Given the description of an element on the screen output the (x, y) to click on. 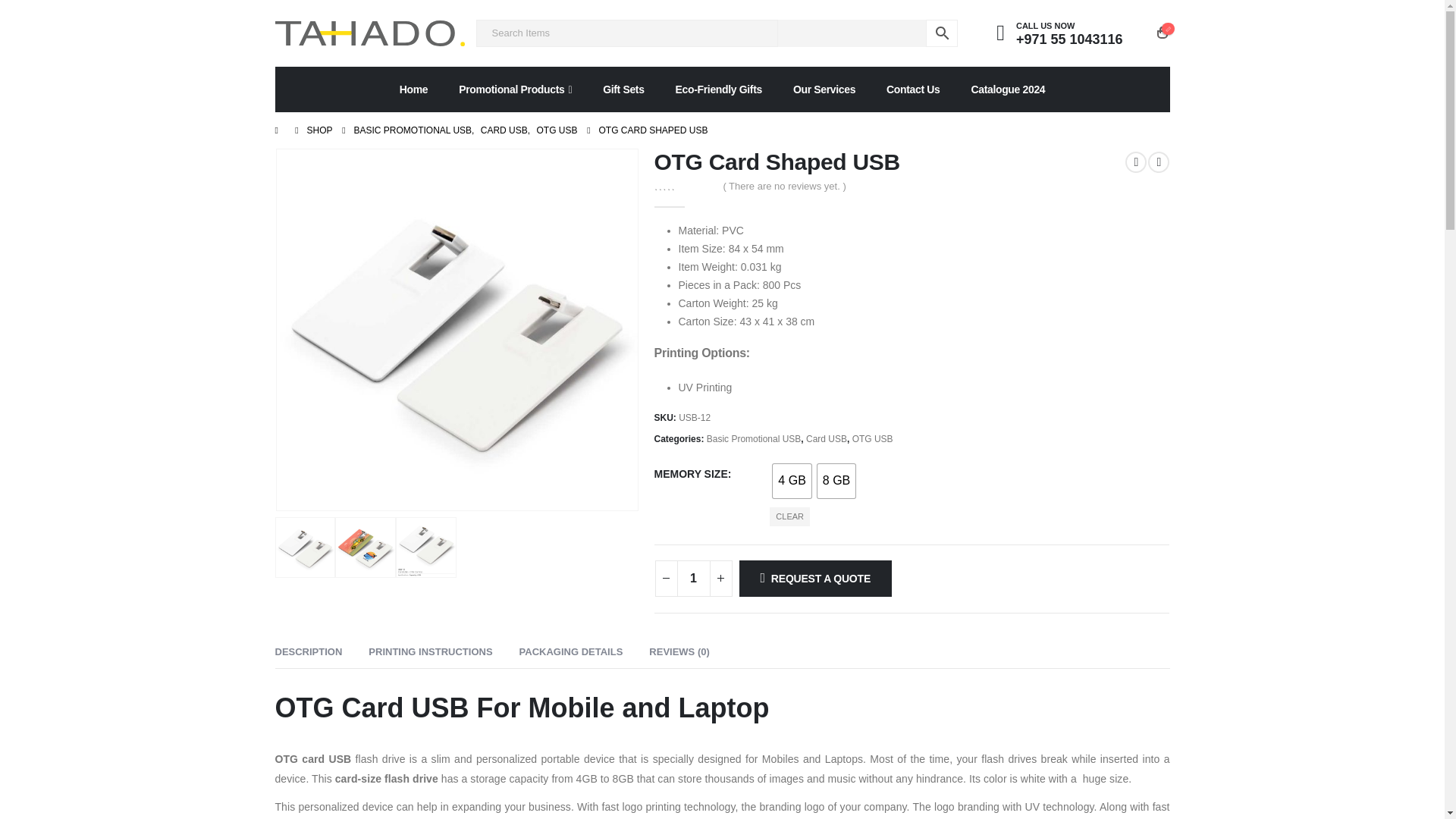
OTG-Card-Shaped-USB-12-main-t.jpg (456, 329)
Promotional Products (515, 89)
4 GB (791, 480)
0 (683, 185)
8 GB (836, 480)
Home (414, 89)
1 (693, 578)
